Given the description of an element on the screen output the (x, y) to click on. 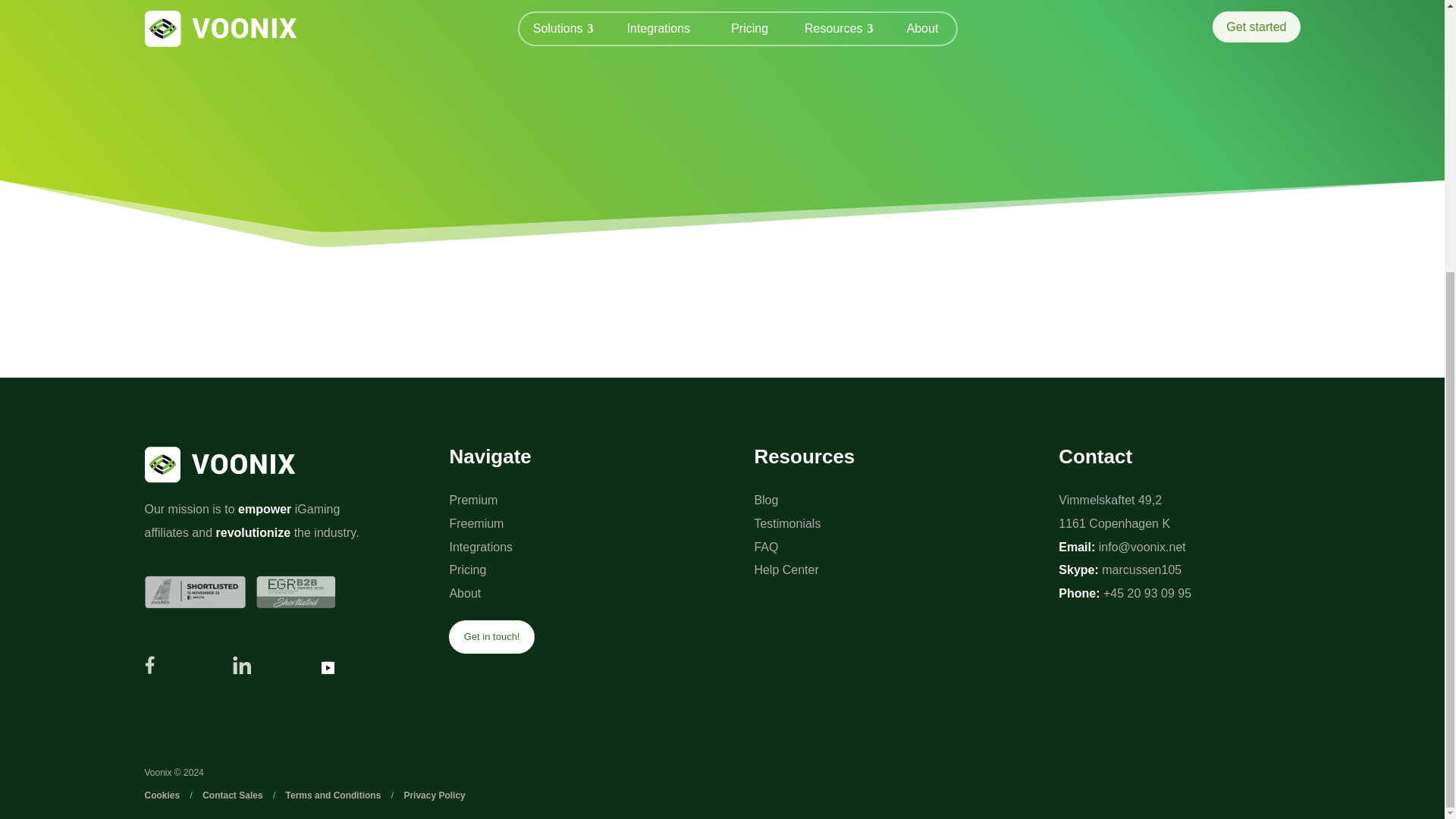
Integrations (480, 546)
Cookies (161, 795)
Help Center (786, 569)
Freemium (475, 522)
Blog (765, 499)
About (464, 593)
Premium (472, 499)
Testimonials (787, 522)
Pricing (467, 569)
Privacy Policy (433, 795)
